Given the description of an element on the screen output the (x, y) to click on. 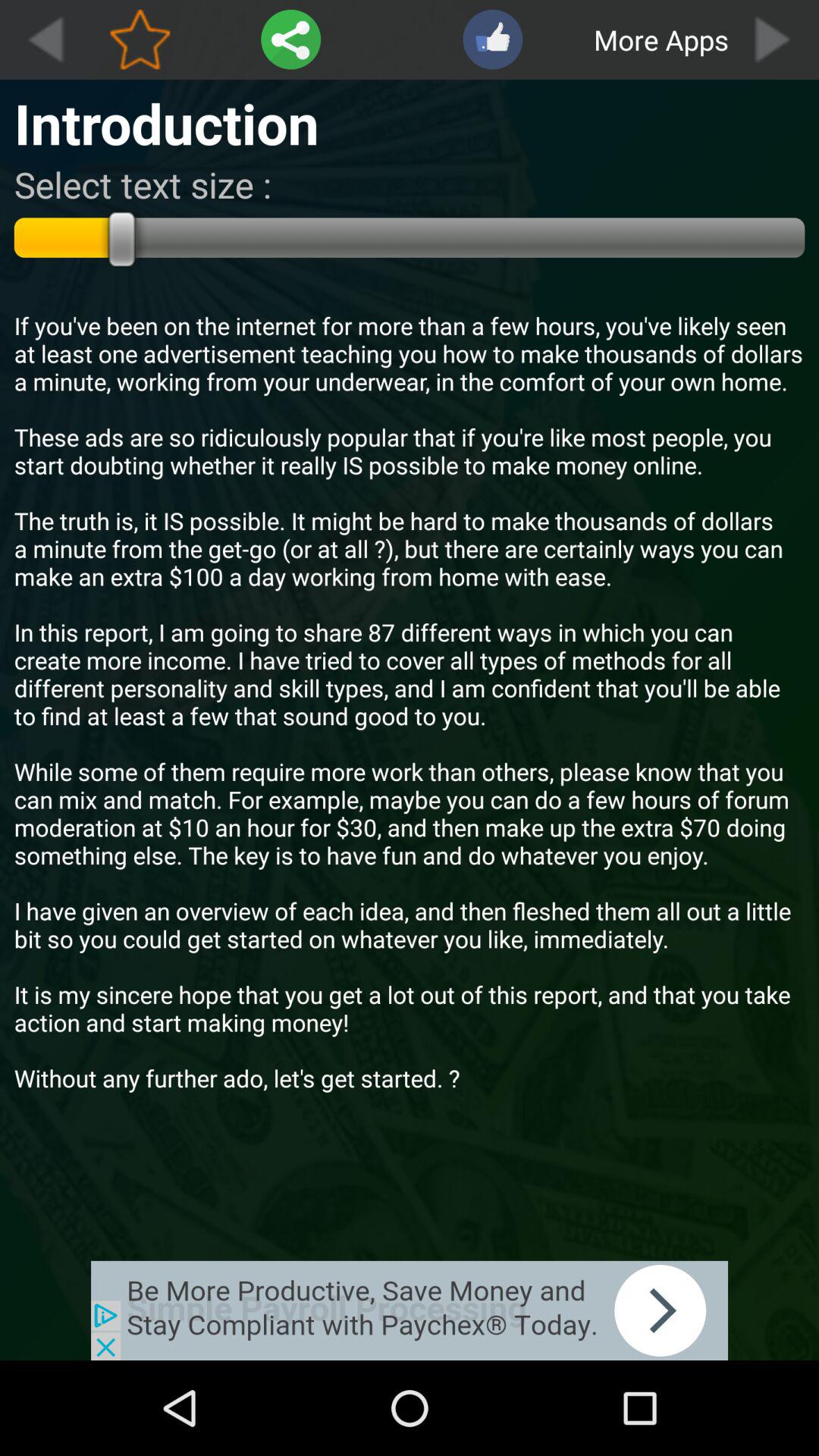
advertisement (409, 1310)
